Given the description of an element on the screen output the (x, y) to click on. 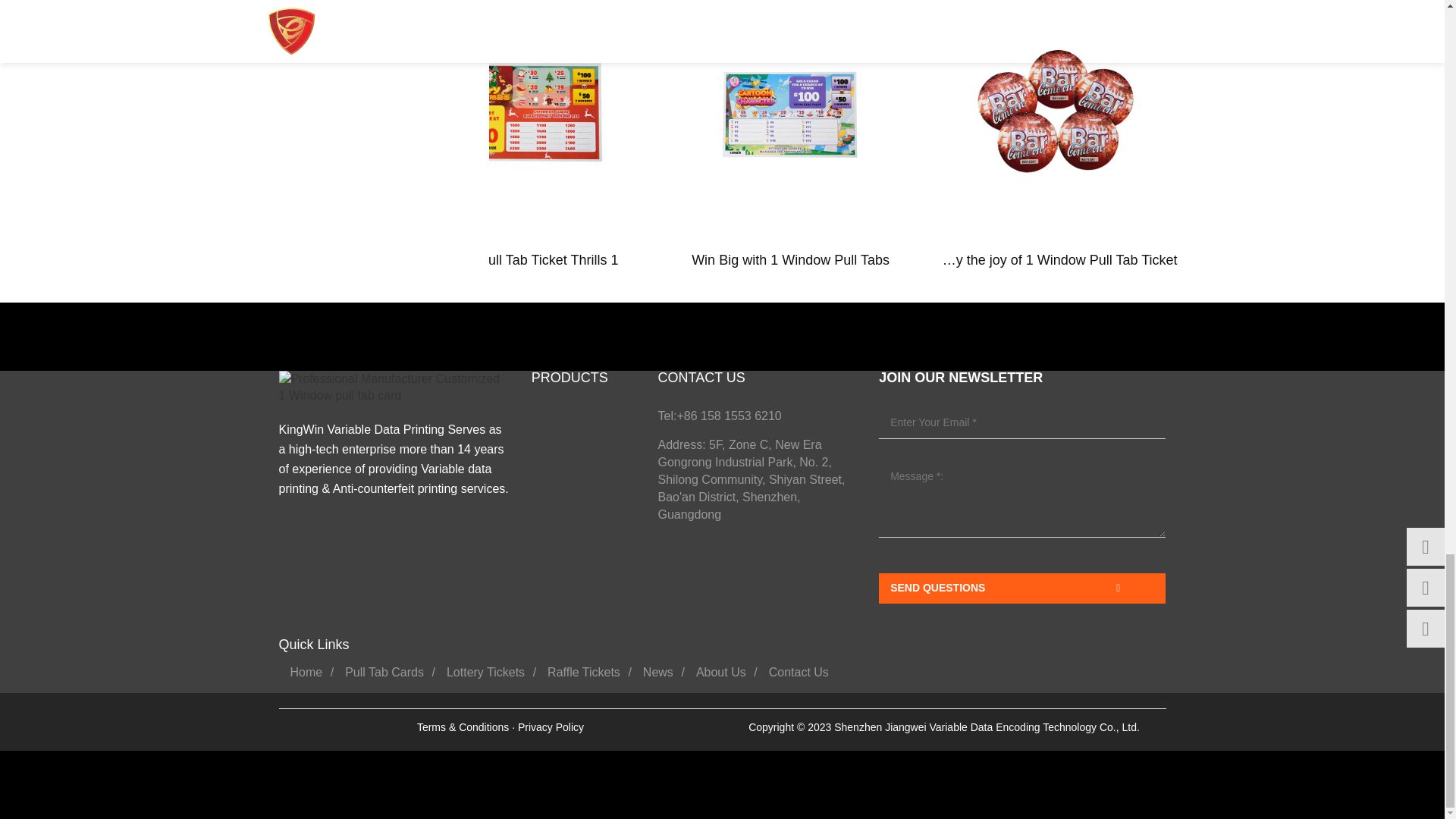
1 Window Pull Tab Ticket Thrills (523, 115)
Win Big with 1 Window Pull Tabs (789, 115)
Enjoy the joy of 1 Window Pull Tab Ticket (1057, 115)
